Given the description of an element on the screen output the (x, y) to click on. 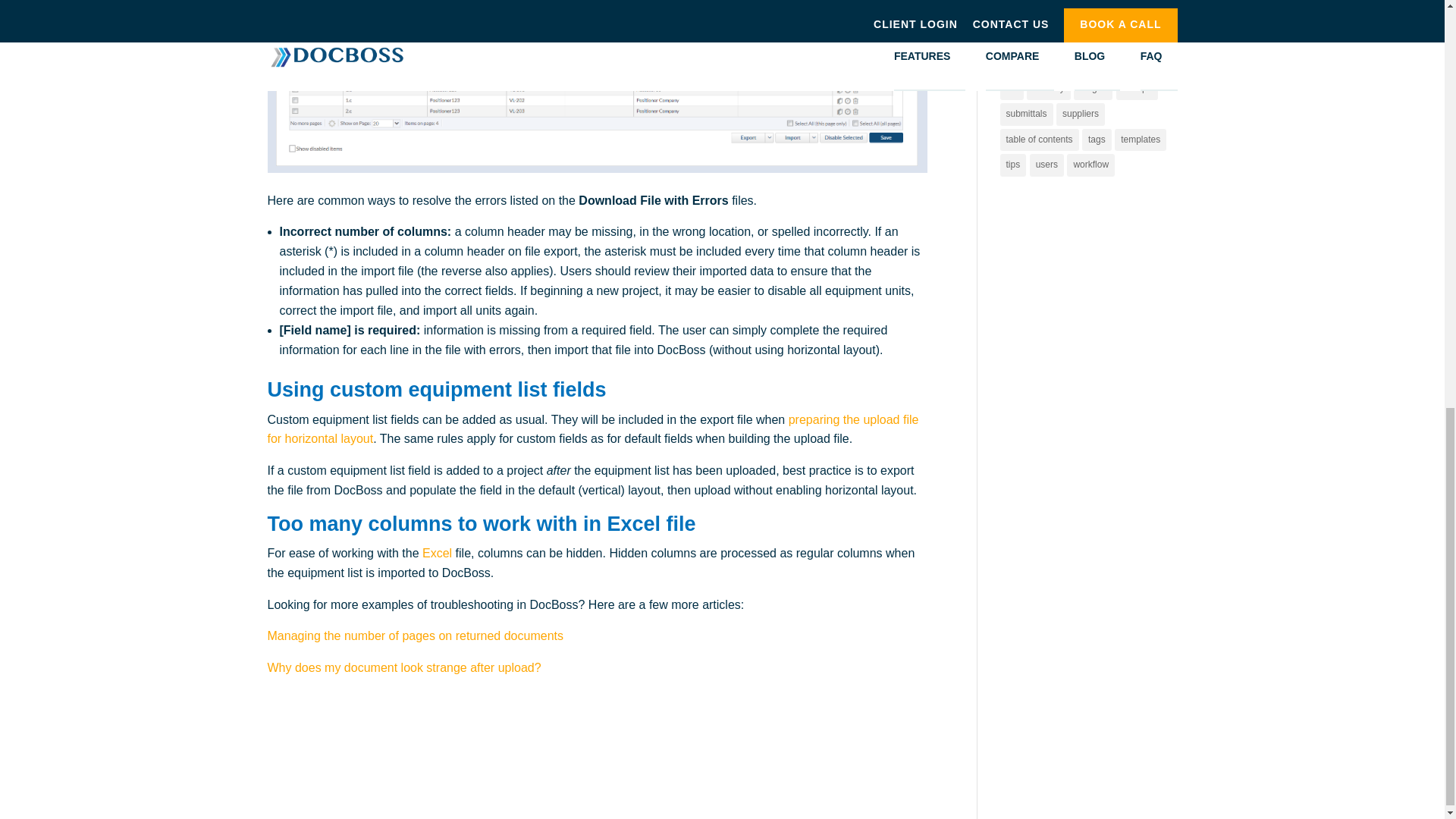
preparing the upload file for horizontal layout (592, 429)
Why does my document look strange after upload? (403, 667)
Excel (436, 553)
Managing the number of pages on returned documents (414, 635)
